Given the description of an element on the screen output the (x, y) to click on. 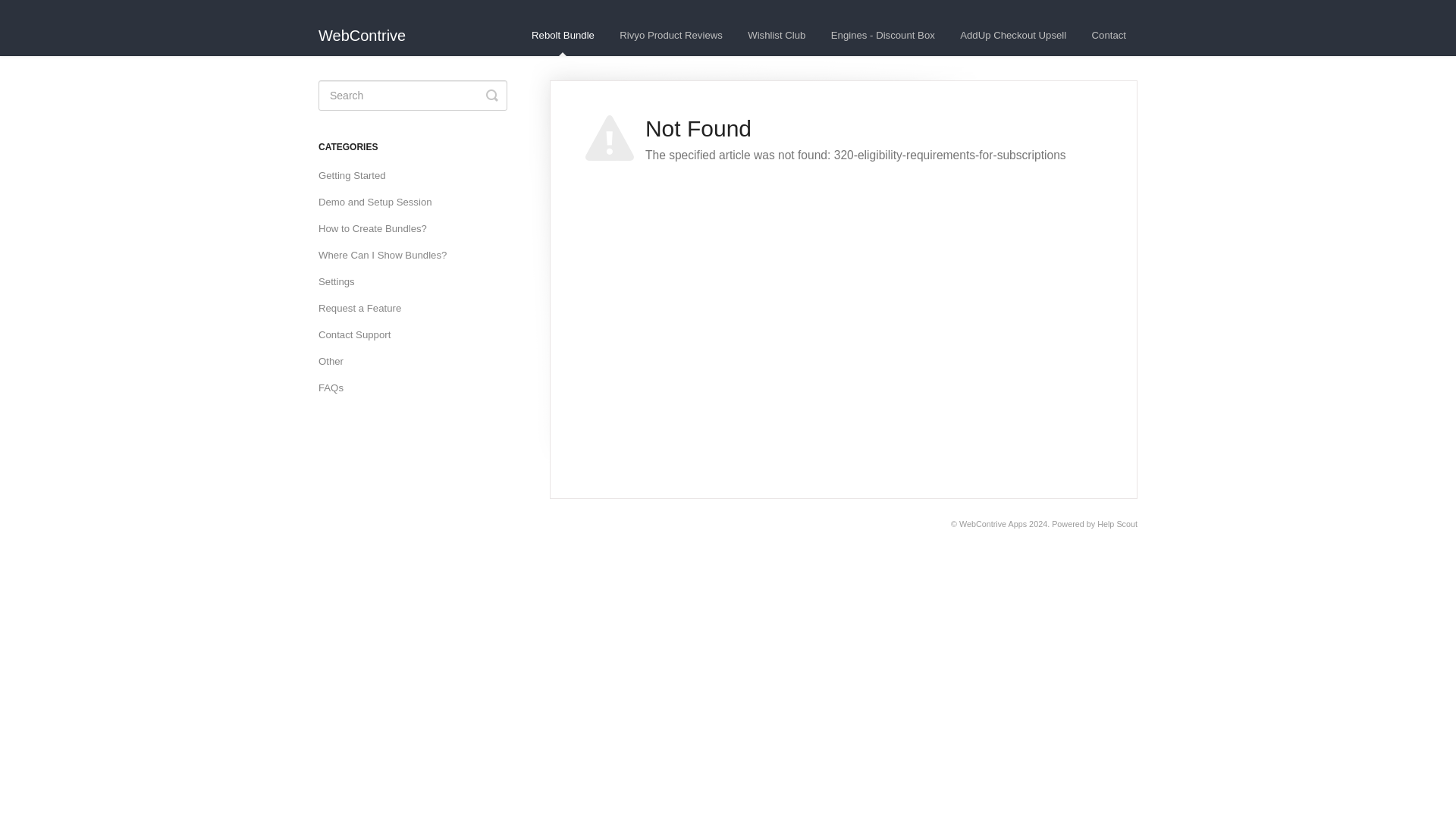
Demo and Setup Session (381, 202)
AddUp Checkout Upsell (1013, 35)
FAQs (336, 387)
Rebolt Bundle (562, 35)
Other (336, 361)
WebContrive (369, 28)
Settings (342, 282)
Contact (1108, 35)
Toggle Search (491, 95)
Wishlist Club (776, 35)
Request a Feature (365, 308)
Getting Started (357, 175)
Rivyo Product Reviews (670, 35)
Contact Support (359, 334)
WebContrive Apps (992, 523)
